Given the description of an element on the screen output the (x, y) to click on. 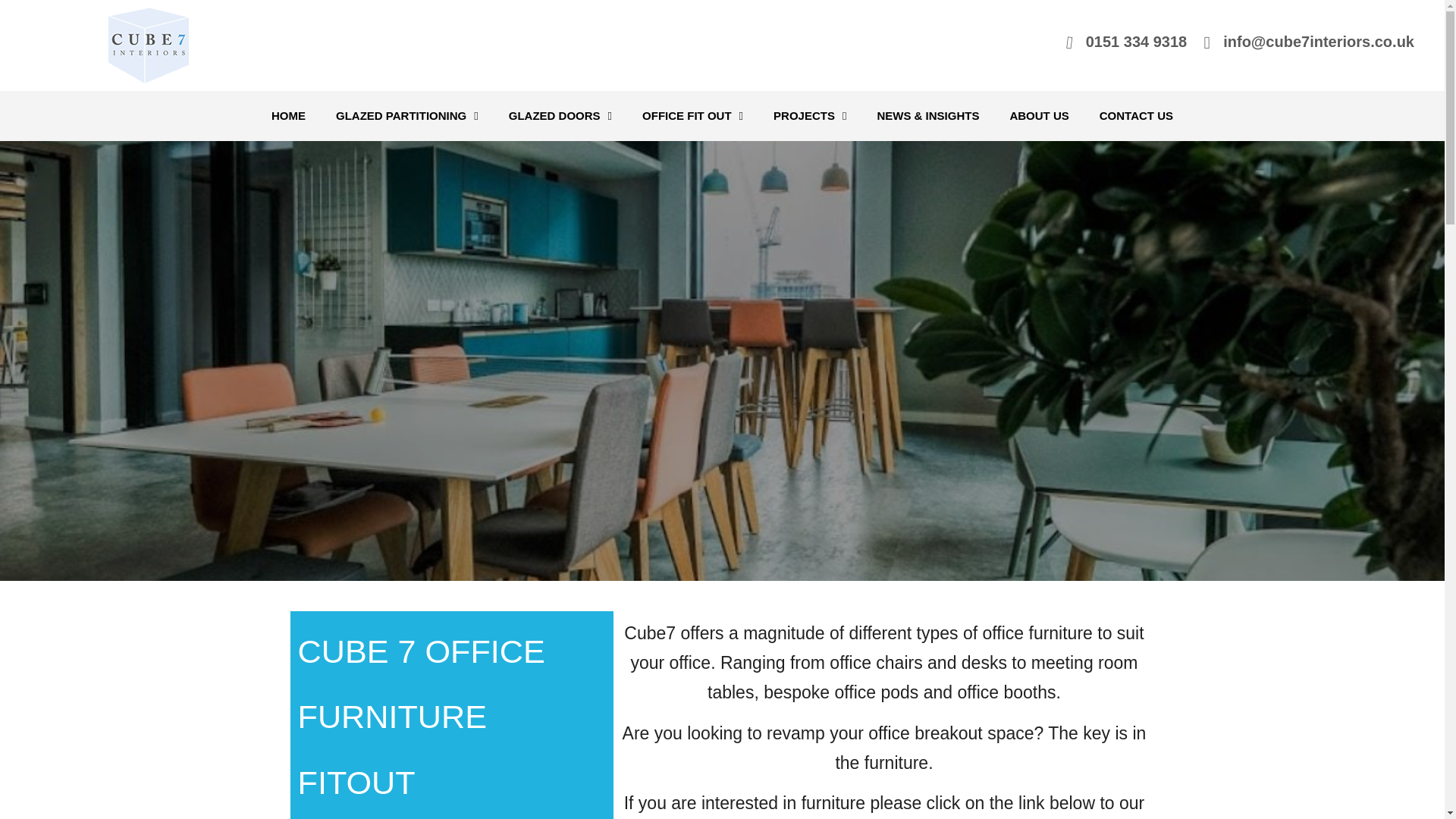
0151 334 9318 (1136, 41)
GLAZED DOORS (560, 115)
GLAZED PARTITIONING (406, 115)
ABOUT US (1038, 115)
PROJECTS (809, 115)
HOME (288, 115)
OFFICE FIT OUT (692, 115)
CONTACT US (1136, 115)
